Given the description of an element on the screen output the (x, y) to click on. 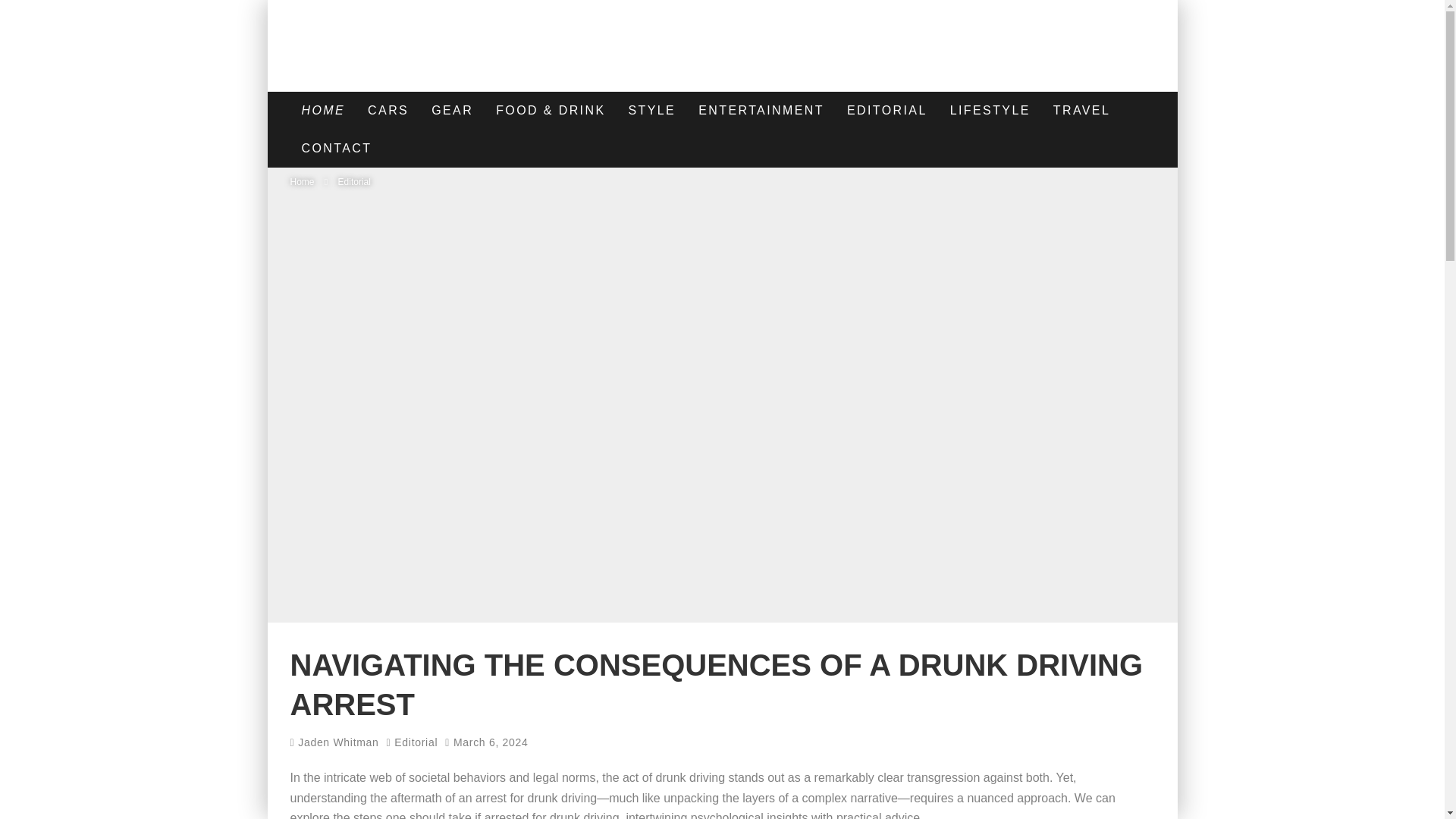
GEAR (452, 110)
CARS (388, 110)
HOME (322, 110)
